Given the description of an element on the screen output the (x, y) to click on. 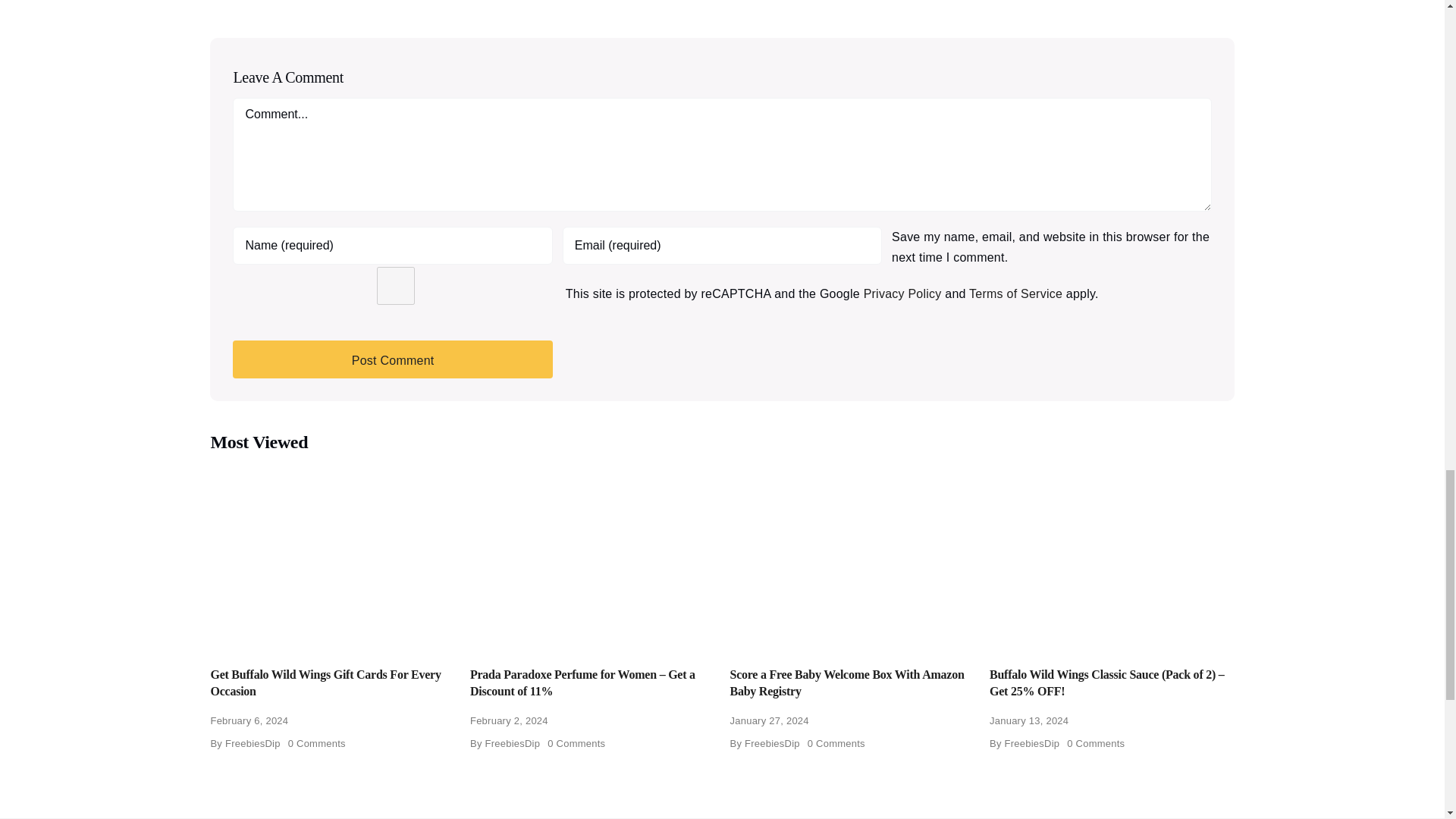
Buffalo Wild Wings Gift Cards (331, 555)
Amazon Baby Registry Welcome Box (851, 555)
yes (394, 285)
Post Comment (391, 359)
Posts by FreebiesDip (512, 743)
Prada Paradoxe perfume for Women (592, 555)
Posts by FreebiesDip (771, 743)
Posts by FreebiesDip (253, 743)
